Given the description of an element on the screen output the (x, y) to click on. 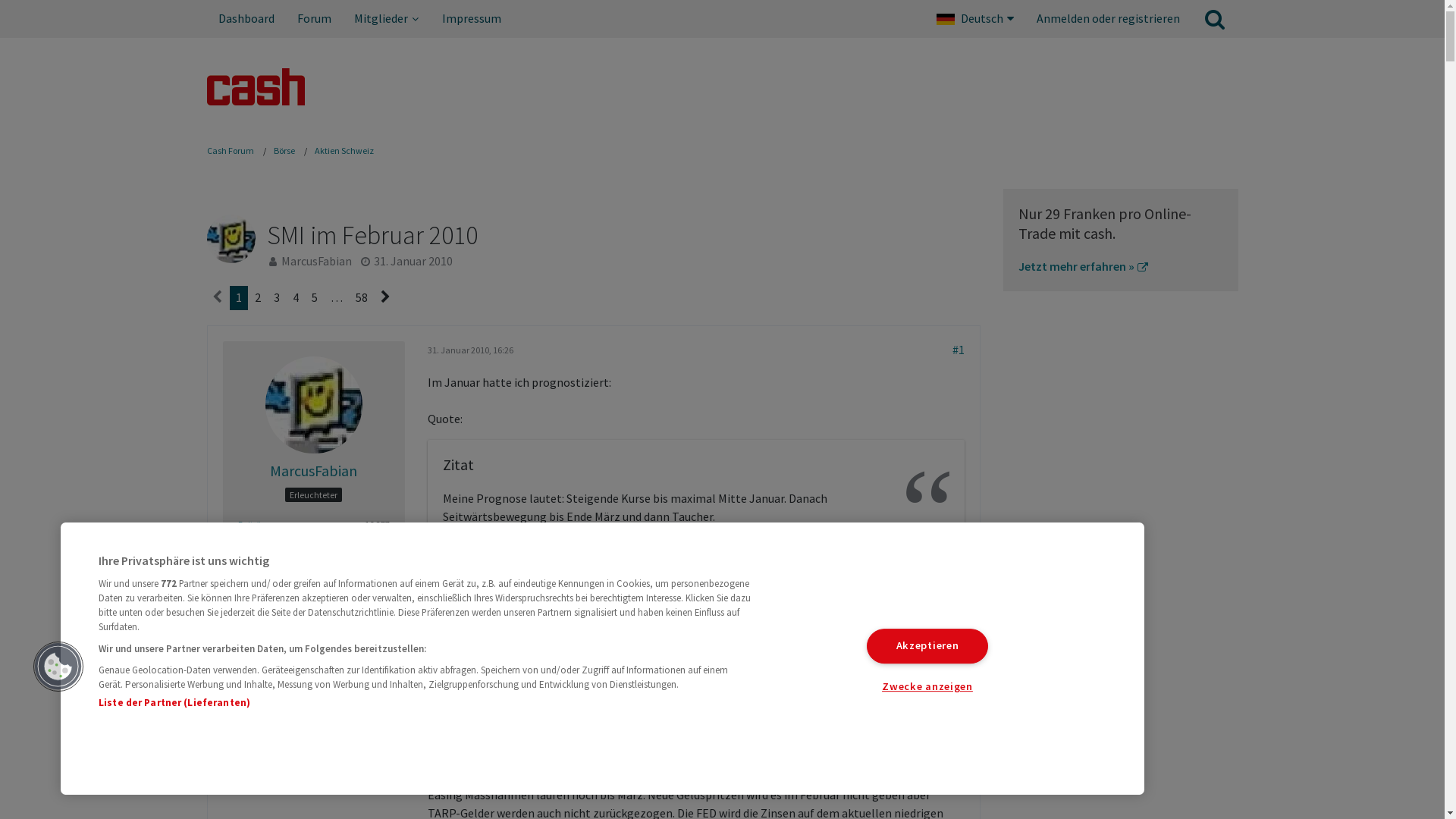
Aktien Schweiz Element type: text (343, 150)
Anmelden oder registrieren Element type: text (1108, 18)
Zwecke anzeigen Element type: text (927, 686)
Nur 29 Franken pro Online-Trade mit cash. Element type: text (1103, 222)
31. Januar 2010, 16:26 Element type: text (470, 349)
58 Element type: text (360, 297)
MarcusFabian Element type: text (313, 470)
http://img194.imageshack.us/img194/6770/smi.png Element type: text (666, 632)
Cash Forum Element type: text (229, 150)
Cookies Button Element type: text (58, 666)
4 Element type: text (295, 297)
3 Element type: text (275, 297)
31. Januar 2010 Element type: text (412, 260)
Forum Element type: text (313, 18)
5 Element type: text (313, 297)
Dashboard Element type: text (245, 18)
MarcusFabian Element type: text (315, 260)
Mitglieder Element type: text (386, 18)
Impressum Element type: text (471, 18)
Deutsch Element type: text (975, 18)
Akzeptieren Element type: text (927, 646)
2 Element type: text (257, 297)
Liste der Partner (Lieferanten) Element type: text (174, 702)
#1 Element type: text (958, 349)
